Given the description of an element on the screen output the (x, y) to click on. 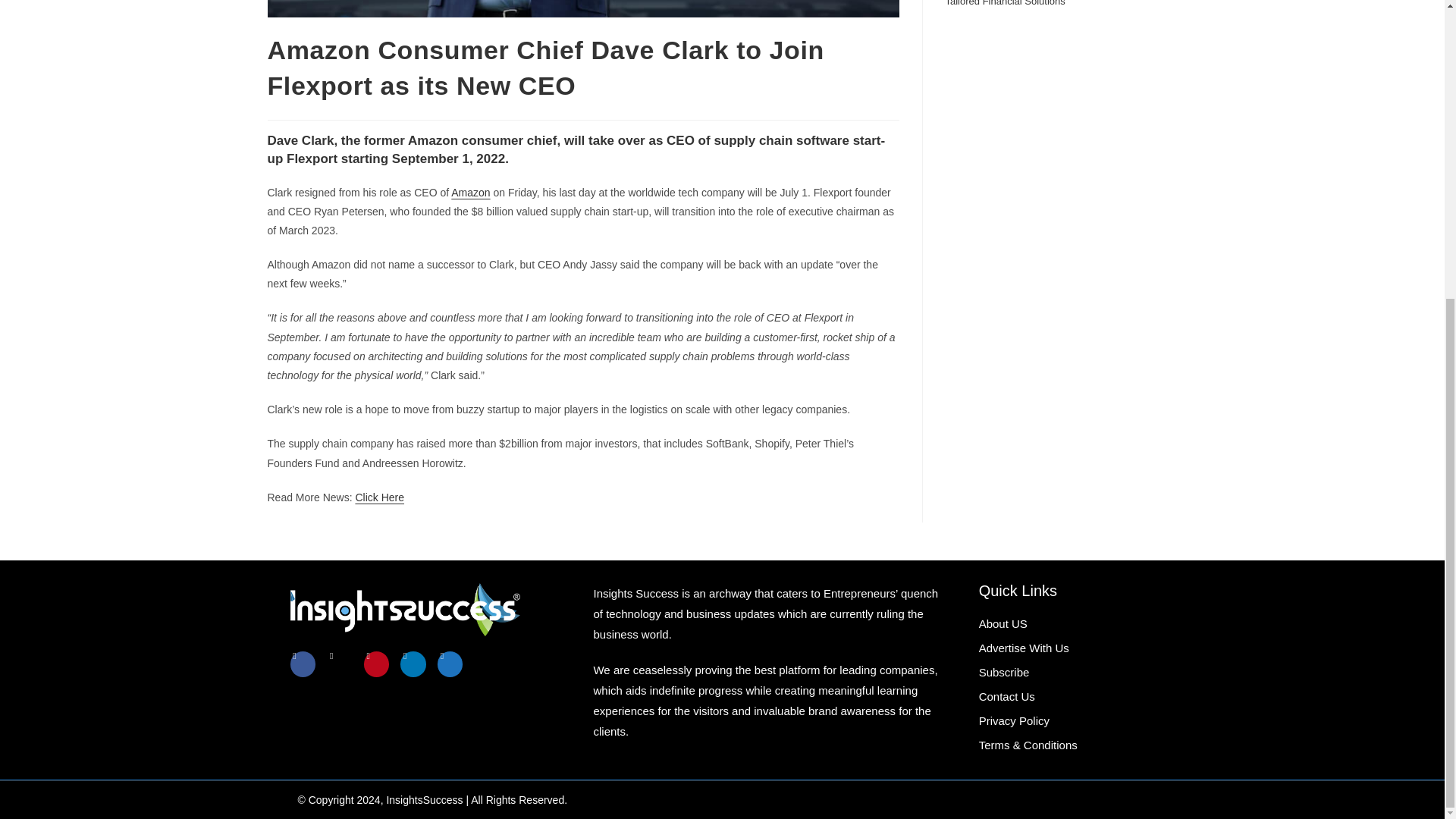
Click Here (379, 497)
Amazon (470, 192)
